Given the description of an element on the screen output the (x, y) to click on. 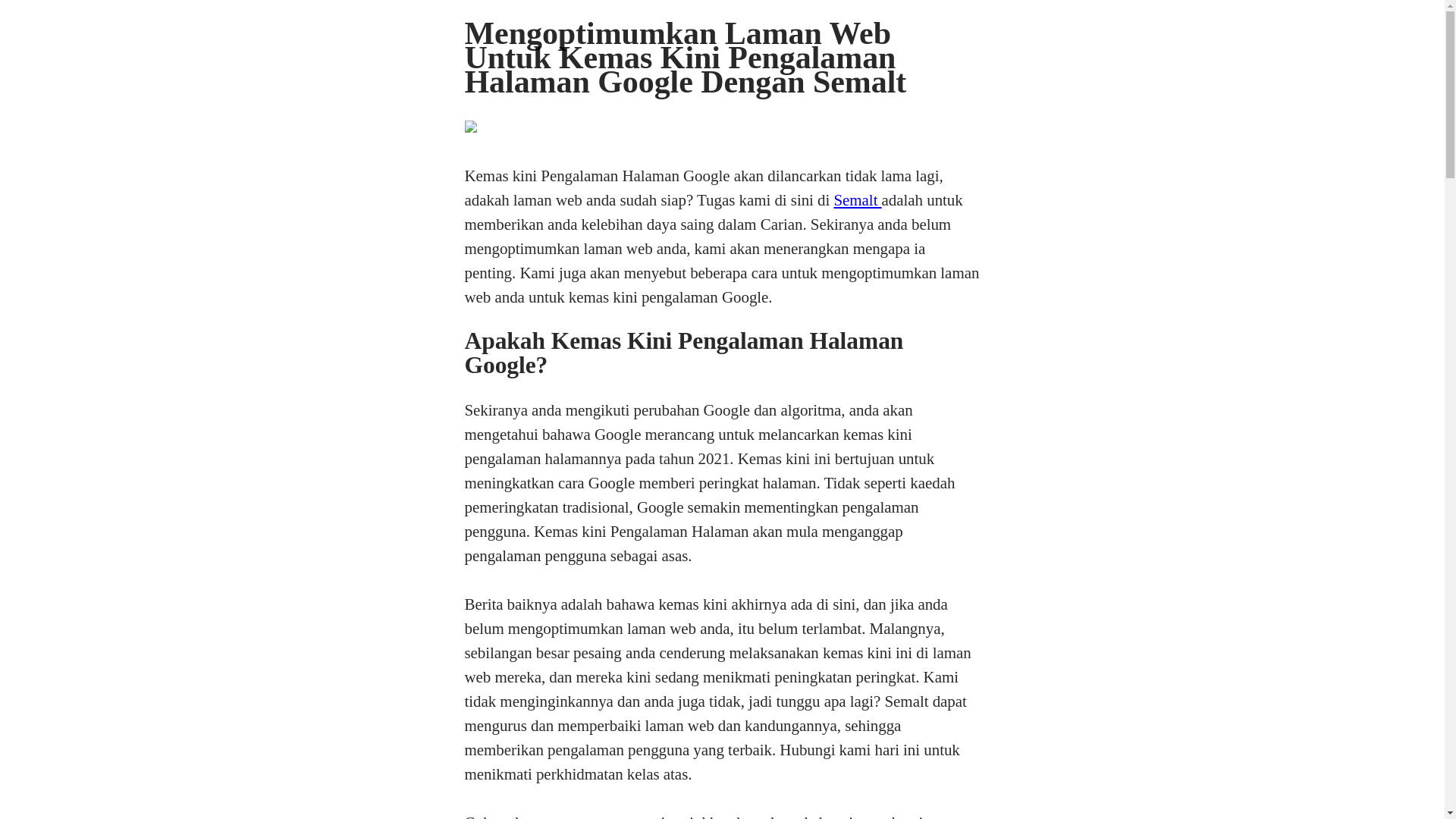
Semalt Element type: text (857, 200)
